Given the description of an element on the screen output the (x, y) to click on. 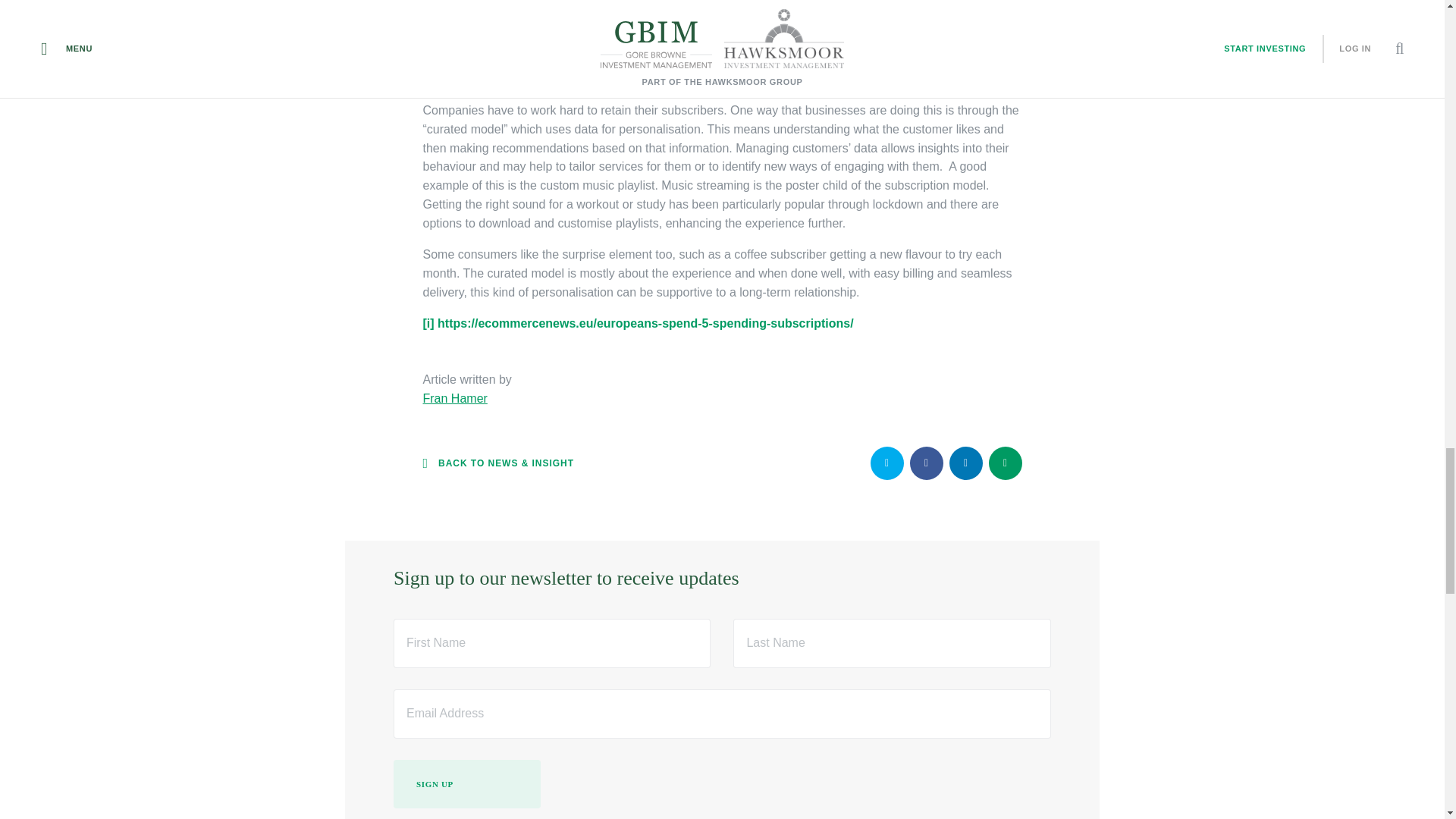
Fran Hamer (455, 398)
